Given the description of an element on the screen output the (x, y) to click on. 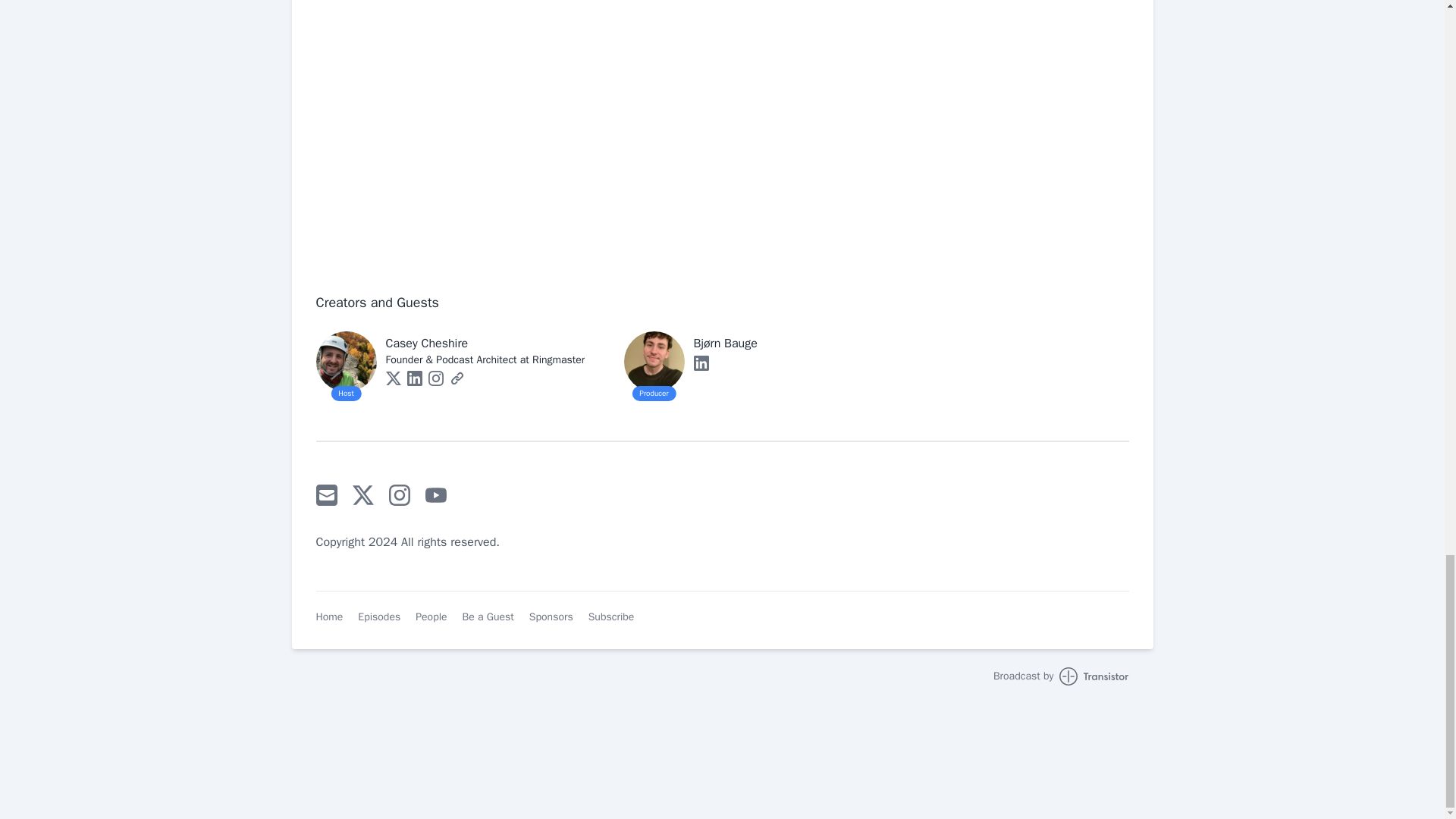
Casey Cheshire (426, 342)
Twitter (392, 377)
YouTube video player (542, 127)
Casey Cheshire (426, 342)
